Given the description of an element on the screen output the (x, y) to click on. 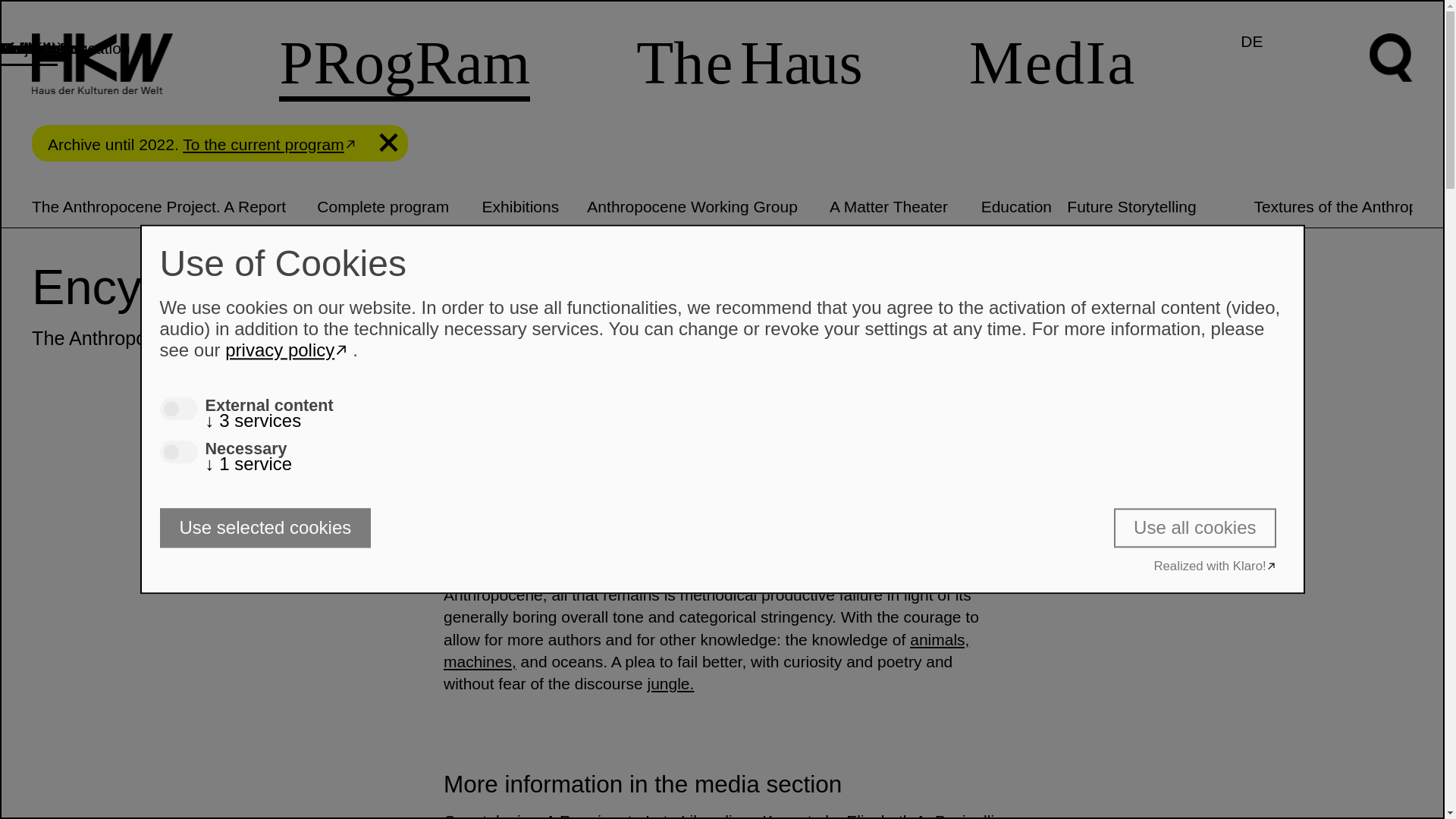
About us (31, 47)
Calendar (32, 47)
PRogRam (404, 65)
To the current program (271, 144)
Anthropocene Working Group (691, 206)
Projects (29, 47)
Cultural Education (65, 47)
History (24, 47)
The Anthropocene Project. A Report (158, 206)
Mud (520, 549)
